Given the description of an element on the screen output the (x, y) to click on. 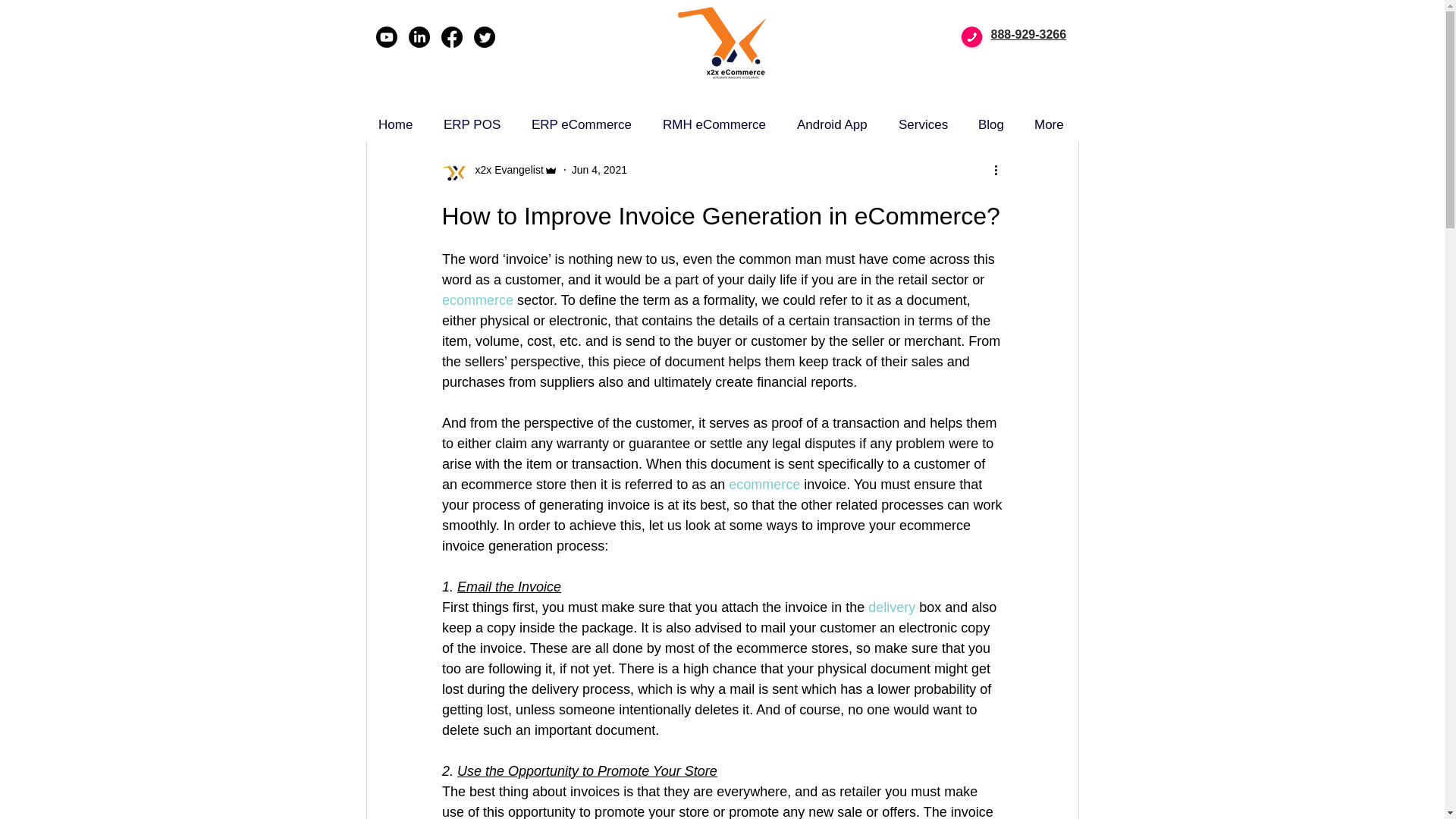
x2x Evangelist (504, 170)
Services (923, 124)
Blog (991, 124)
Jun 4, 2021 (599, 169)
888-929-3266 (1027, 33)
ERP eCommerce (581, 124)
ERP POS (472, 124)
Home (396, 124)
Android App (833, 124)
RMH eCommerce (716, 124)
